Given the description of an element on the screen output the (x, y) to click on. 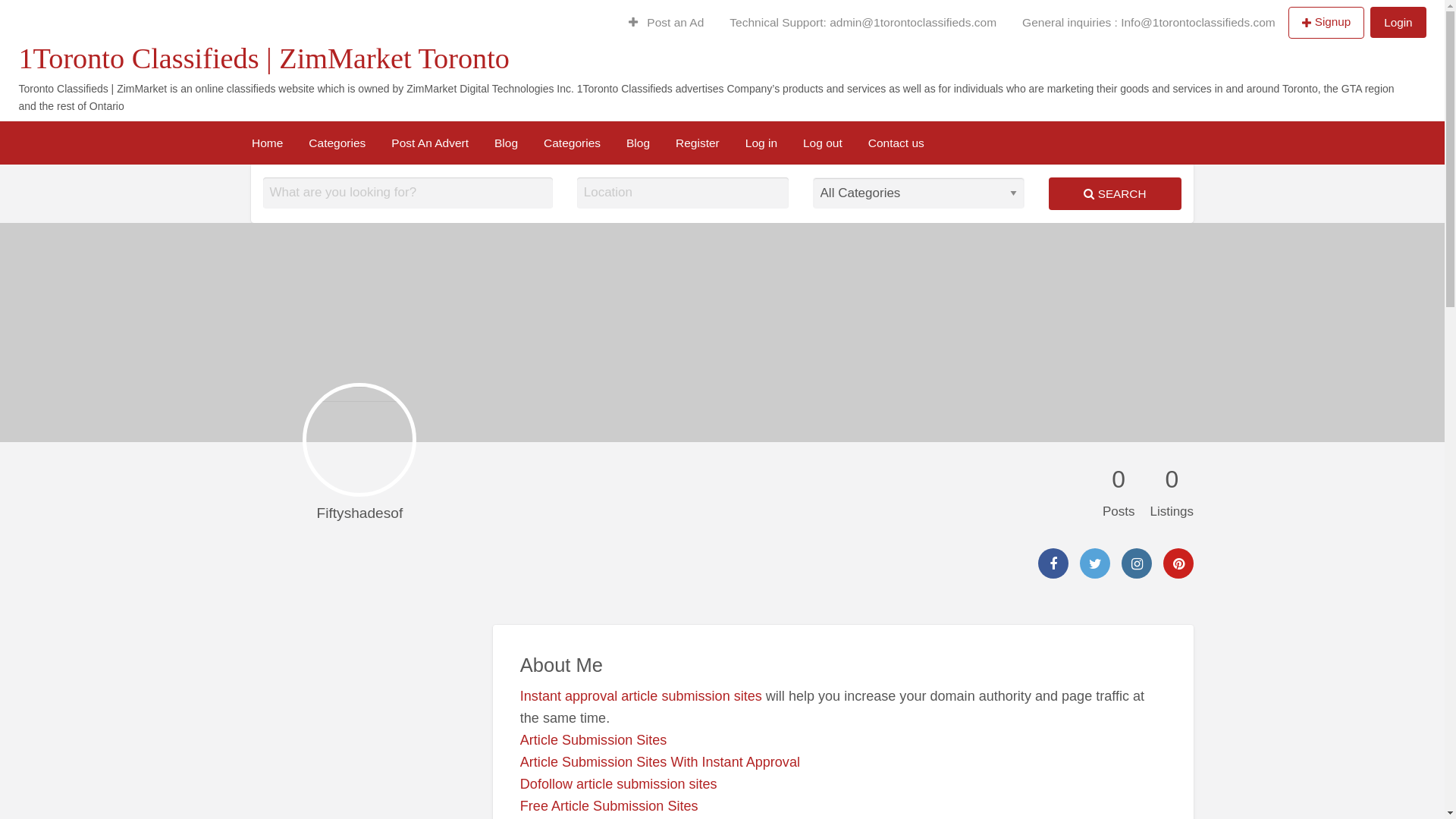
SEARCH Element type: text (1114, 193)
Log in Element type: text (328, 108)
Dofollow article submission sites Element type: text (618, 783)
Facebook Element type: hover (1053, 563)
Instant approval article submission sites Element type: text (641, 695)
Login Element type: text (1397, 21)
Blog Element type: text (505, 142)
Categories Element type: text (571, 142)
Post An Advert Element type: text (429, 142)
Contact us Element type: text (438, 108)
Log out Element type: text (822, 142)
Free Article Submission Sites Element type: text (609, 805)
Signup Element type: text (1326, 21)
Log out Element type: text (377, 108)
Register Element type: text (697, 142)
Article Submission Sites With Instant Approval Element type: text (660, 761)
Home Element type: text (266, 142)
Contact us Element type: text (896, 142)
General inquiries : Info@1torontoclassifieds.com Element type: text (1148, 22)
Blog Element type: text (637, 142)
Twitter Element type: hover (1094, 563)
Register Element type: text (266, 109)
Article Submission Sites Element type: text (593, 739)
Blog Element type: text (201, 109)
1Toronto Classifieds | ZimMarket Toronto Element type: text (263, 58)
Categories Element type: text (129, 109)
Blog Element type: text (56, 109)
Log in Element type: text (761, 142)
Technical Support: admin@1torontoclassifieds.com Element type: text (862, 22)
Instagram Element type: hover (1136, 563)
Post an Ad Element type: text (666, 22)
Pinterest Element type: hover (1178, 563)
Categories Element type: text (336, 142)
